Given the description of an element on the screen output the (x, y) to click on. 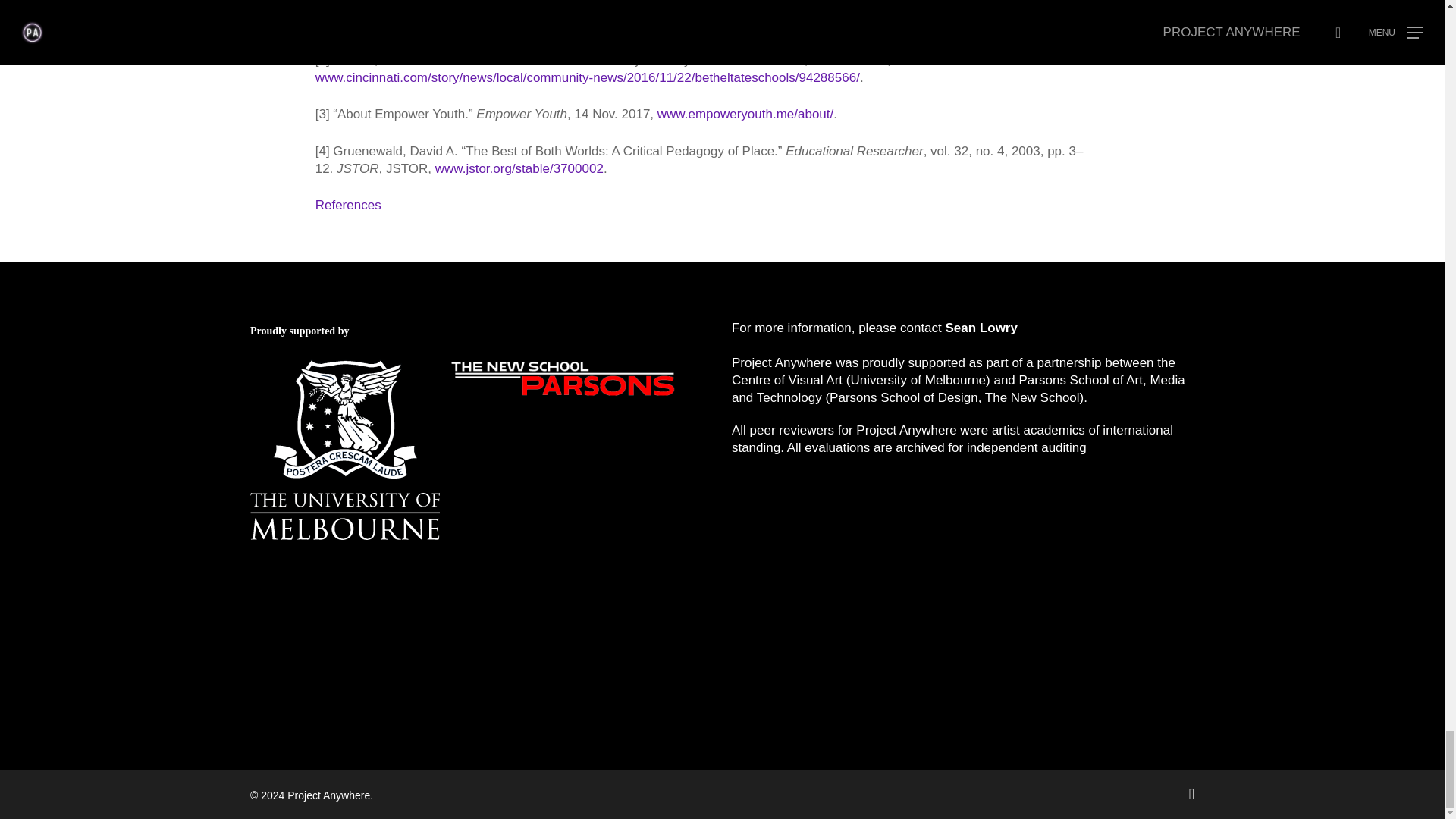
Sean Lowry (979, 327)
References (348, 205)
